Given the description of an element on the screen output the (x, y) to click on. 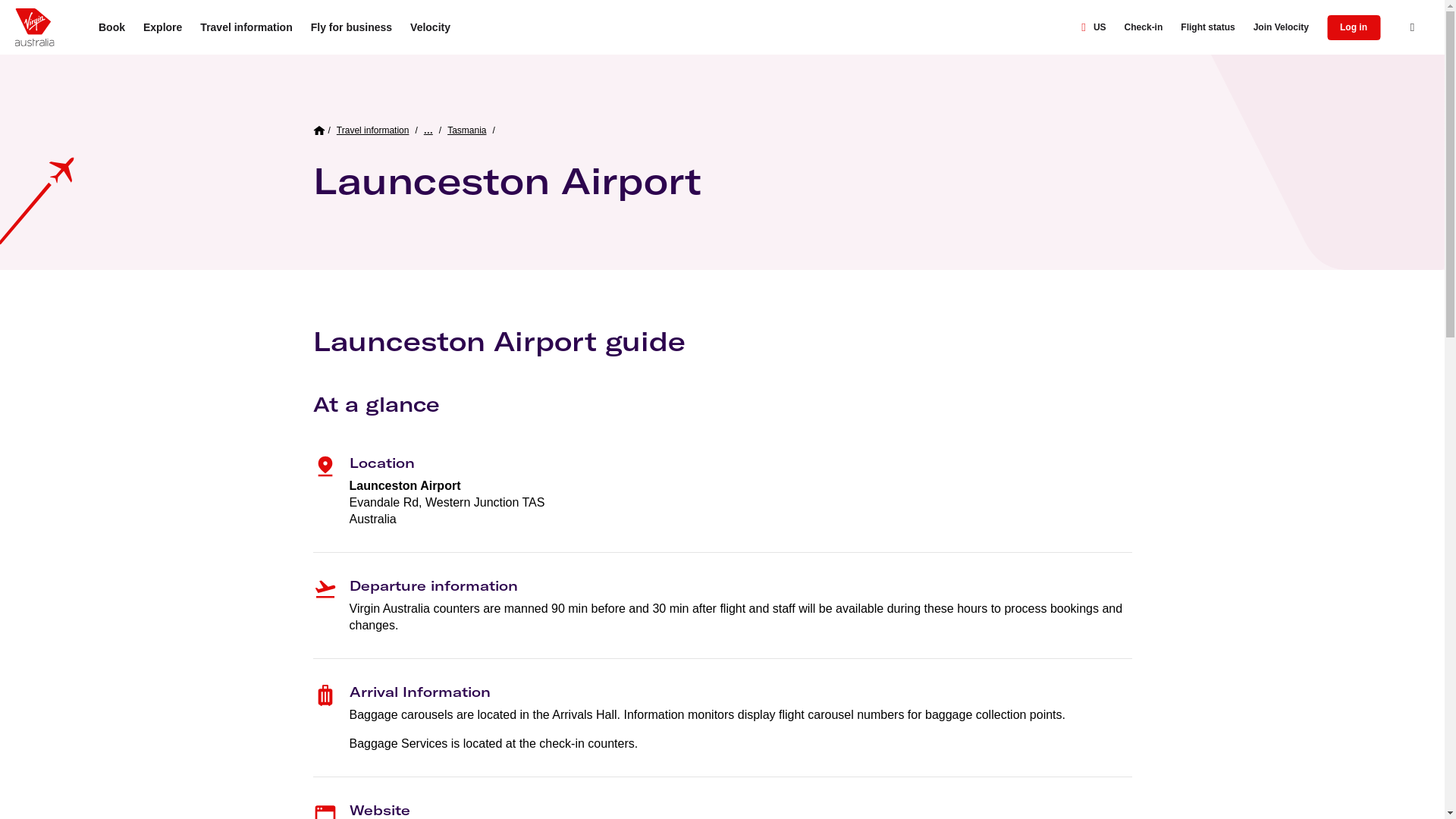
VA Logo (33, 26)
Book (111, 27)
Join Velocity (1280, 26)
Explore (162, 27)
